Given the description of an element on the screen output the (x, y) to click on. 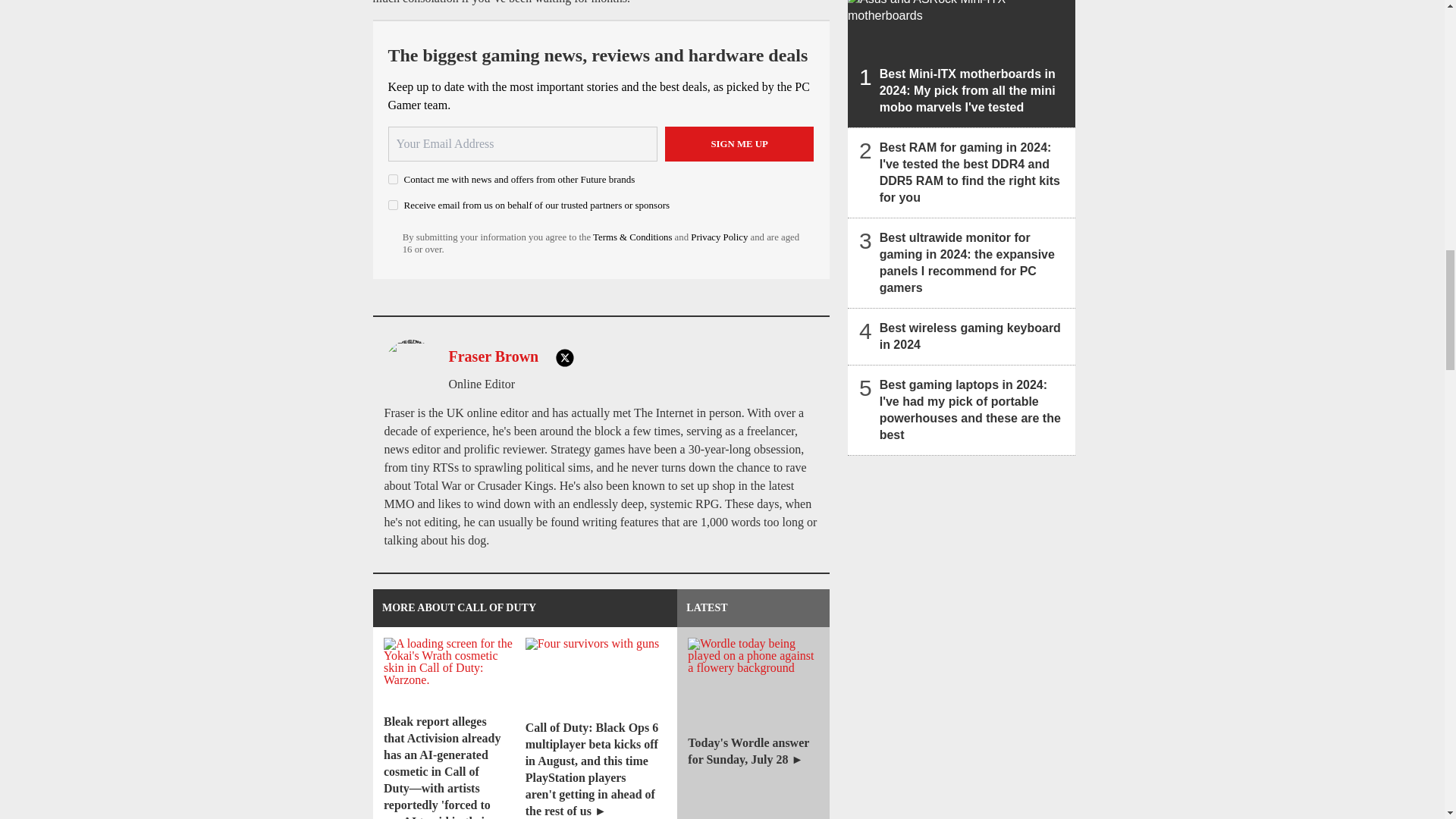
Sign me up (739, 143)
on (392, 179)
on (392, 204)
